Given the description of an element on the screen output the (x, y) to click on. 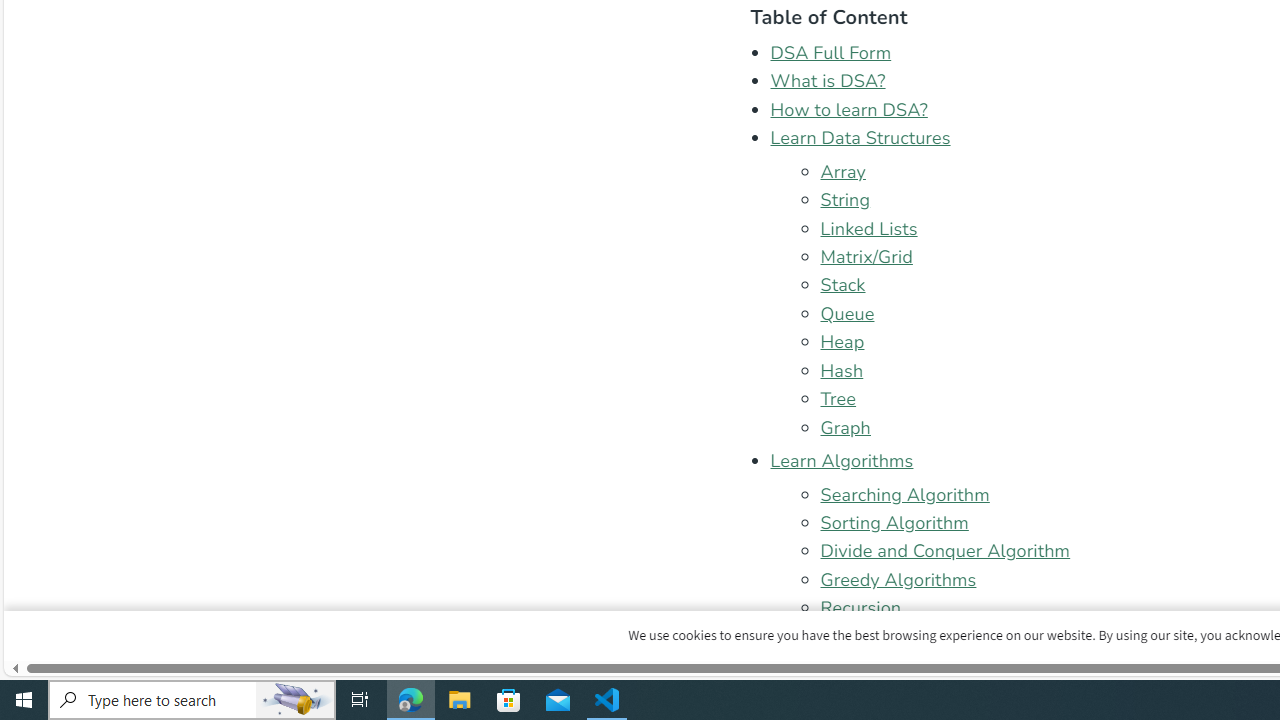
Array (843, 171)
Lightbox (1272, 6)
What is DSA? (827, 81)
Queue (847, 313)
Recursion (861, 608)
Dynamic Programming (914, 665)
String (845, 200)
Learn Algorithms (841, 461)
